Given the description of an element on the screen output the (x, y) to click on. 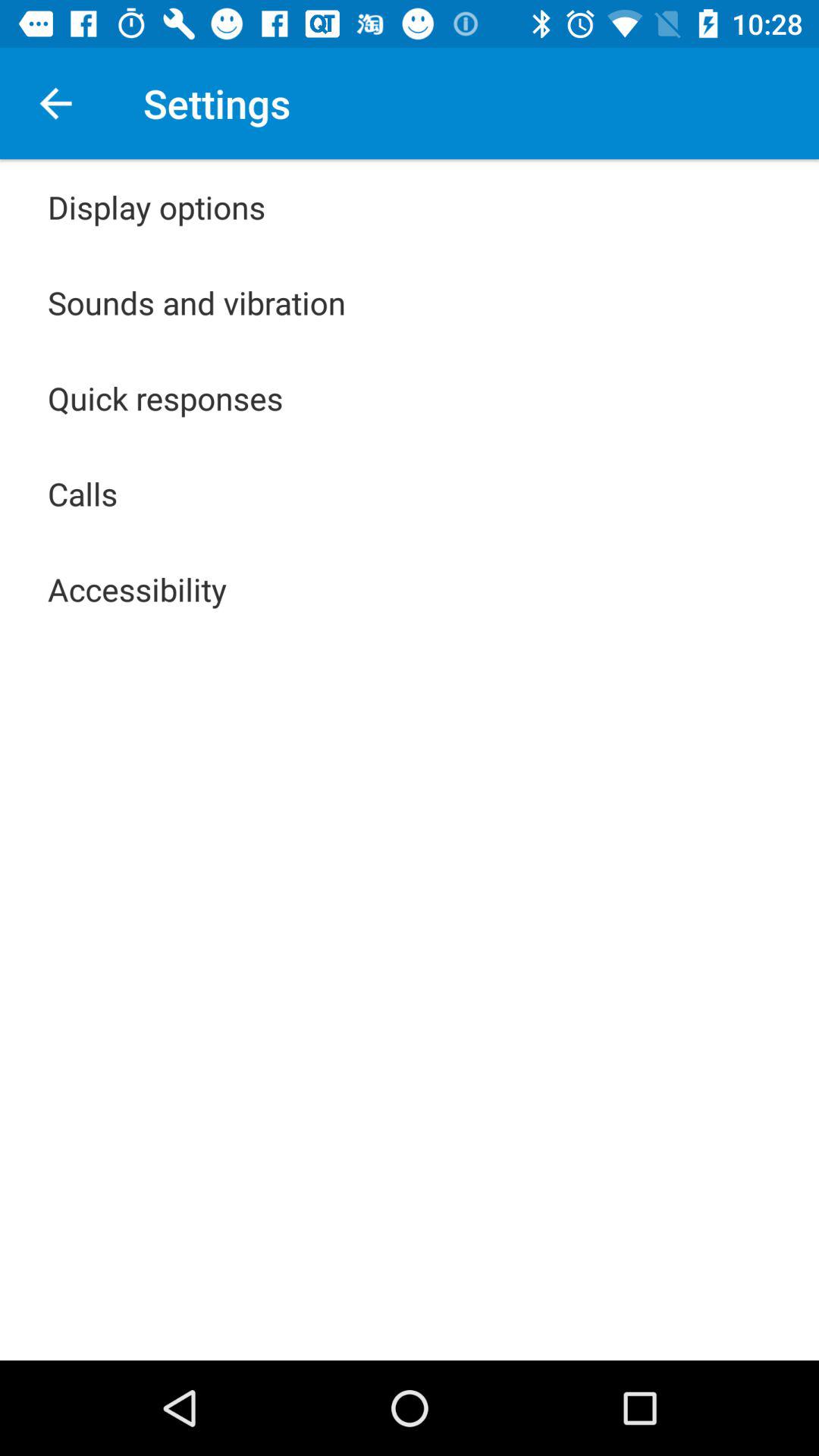
press item below display options app (196, 302)
